Given the description of an element on the screen output the (x, y) to click on. 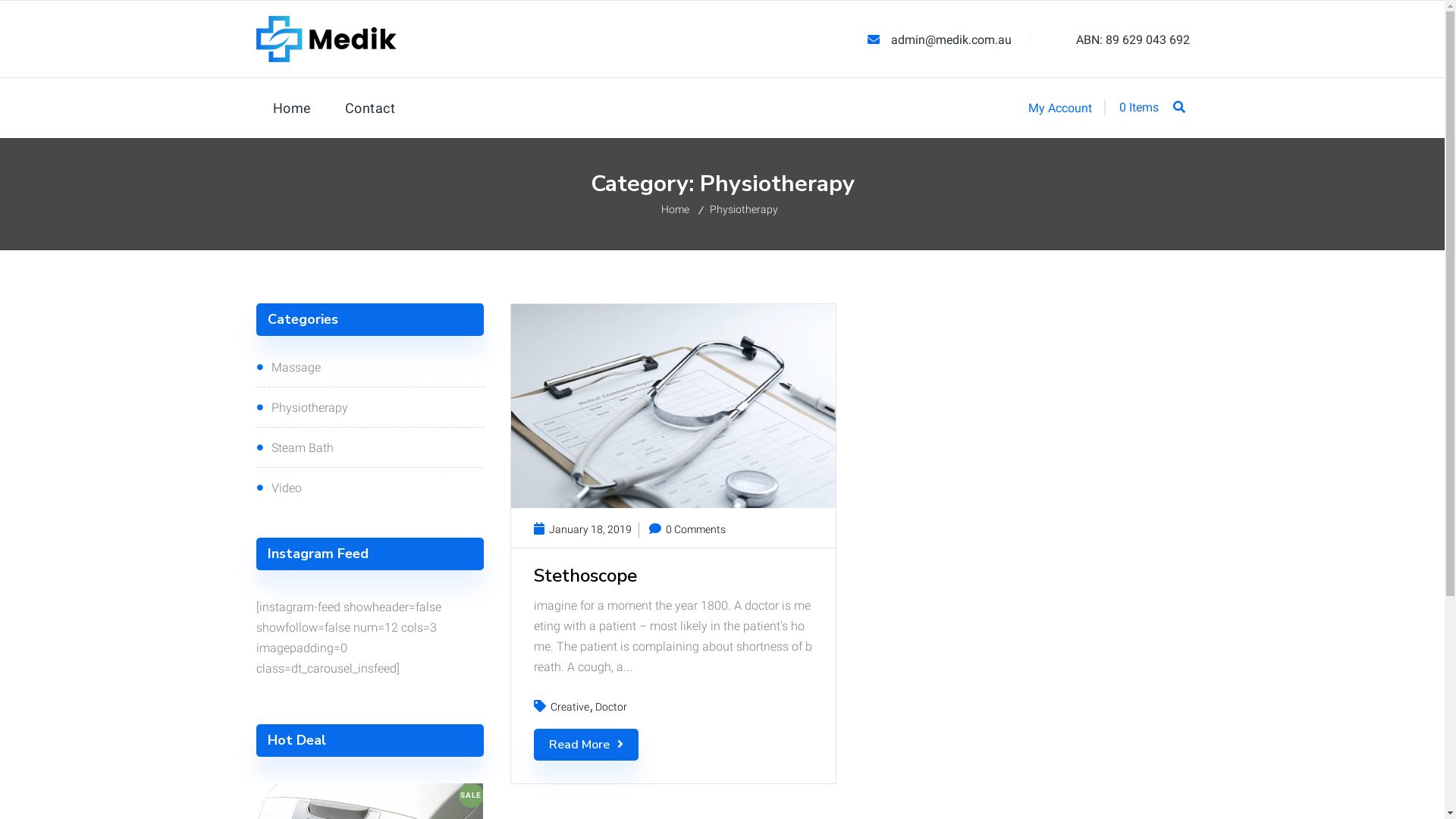
Read More Element type: text (585, 744)
0 Items Element type: text (1131, 107)
Massage Element type: text (369, 366)
Contact Element type: text (369, 107)
Doctor Element type: text (610, 706)
Stethoscope Element type: text (672, 575)
Home Element type: text (292, 107)
Physiotherapy Element type: text (369, 406)
Go Element type: text (1046, 410)
Prev Element type: text (496, 405)
My Account Element type: text (1060, 106)
Home Element type: text (676, 209)
Video Element type: text (369, 486)
Steam Bath Element type: text (369, 447)
0 Comments Element type: text (687, 529)
admin@medik.com.au Element type: text (954, 39)
ABN: 89 629 043 692 Element type: text (1129, 39)
Physiotherapy Element type: text (745, 209)
Creative Element type: text (571, 706)
